Given the description of an element on the screen output the (x, y) to click on. 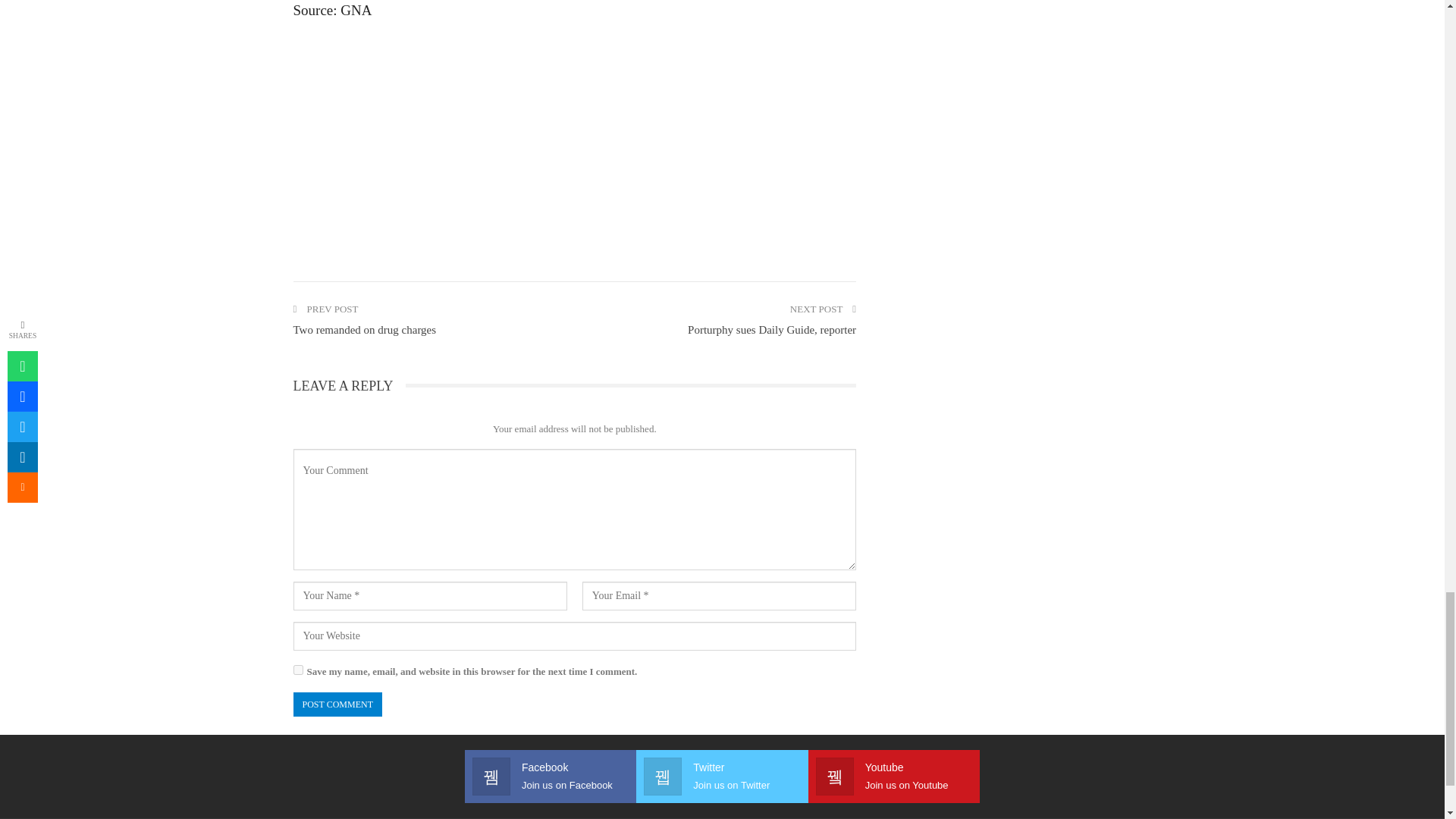
yes (297, 669)
Porturphy sues Daily Guide, reporter (771, 329)
Two remanded on drug charges (363, 329)
Advertisement (574, 142)
Post Comment (336, 703)
